Given the description of an element on the screen output the (x, y) to click on. 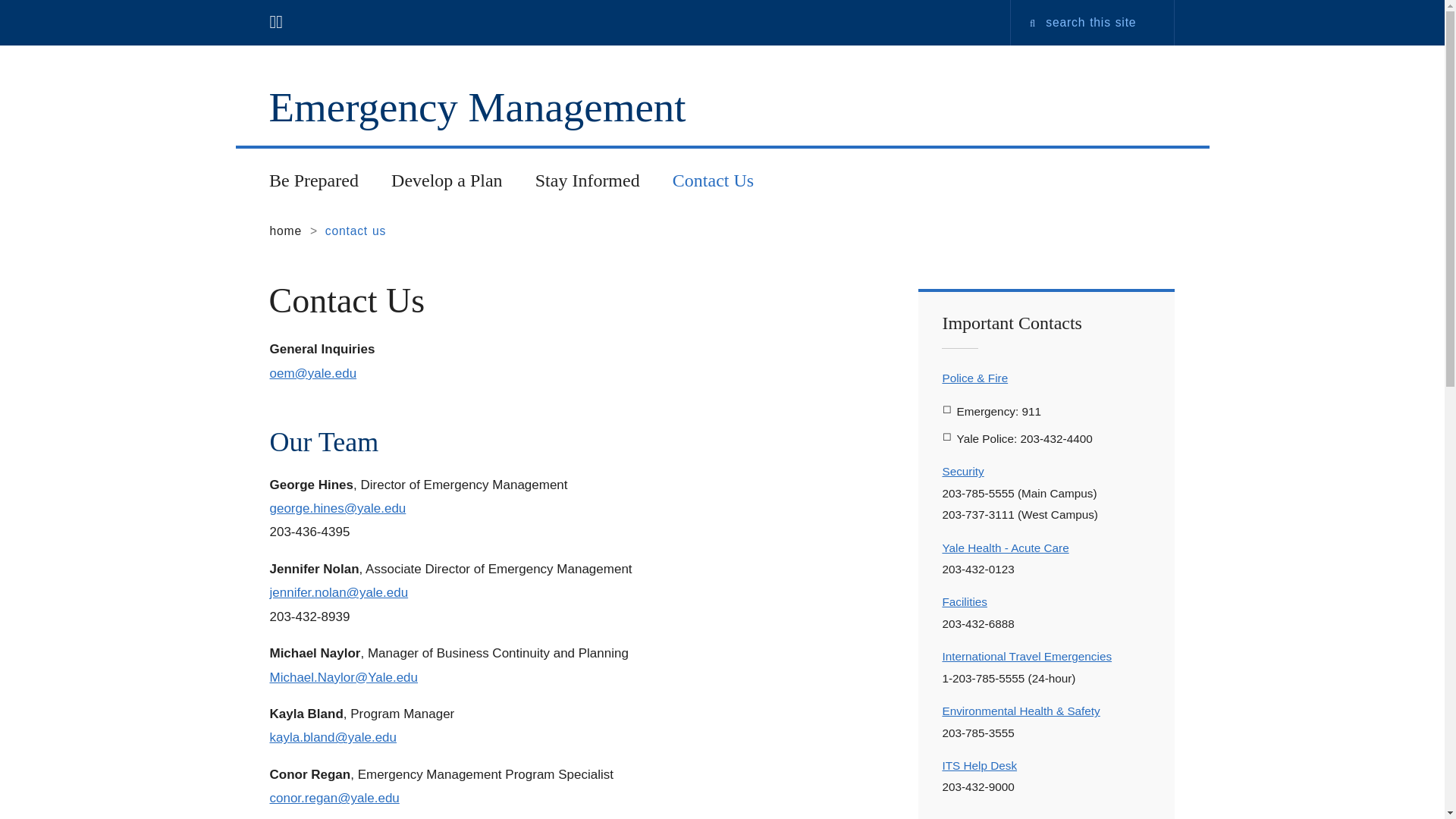
Skip to main content (586, 4)
Contact Us (713, 180)
Home (481, 107)
Stay Informed (587, 180)
Develop a Plan (446, 180)
Enter the terms you wish to search for. (1102, 22)
Facilities (964, 601)
International Travel Emergencies (1027, 656)
Security (963, 471)
ITS Help Desk (979, 765)
home (285, 230)
Yale Health - Acute Care (1005, 547)
Emergency Management  (481, 107)
Be Prepared (312, 180)
